Given the description of an element on the screen output the (x, y) to click on. 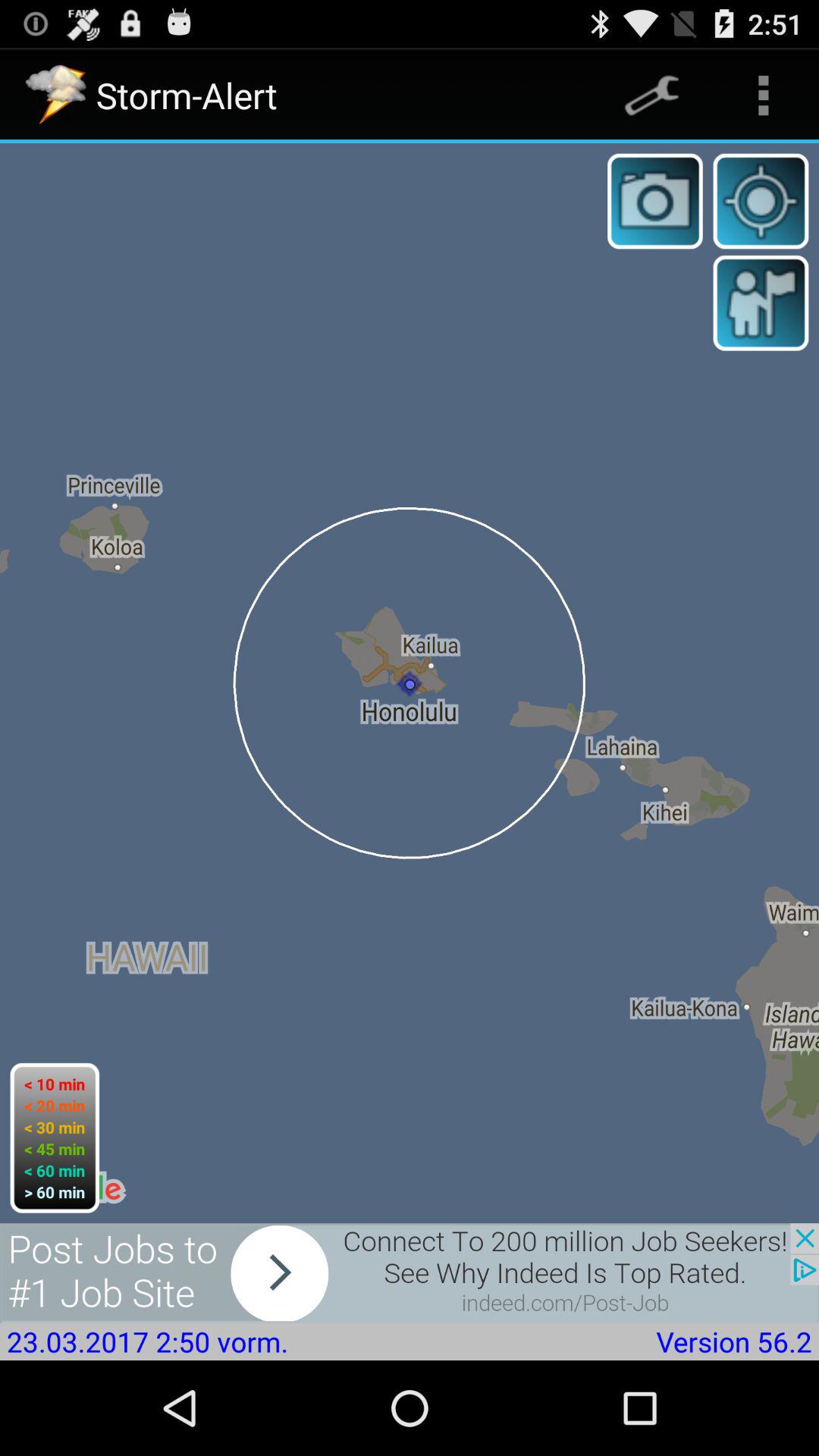
zoom in or out (760, 201)
